Given the description of an element on the screen output the (x, y) to click on. 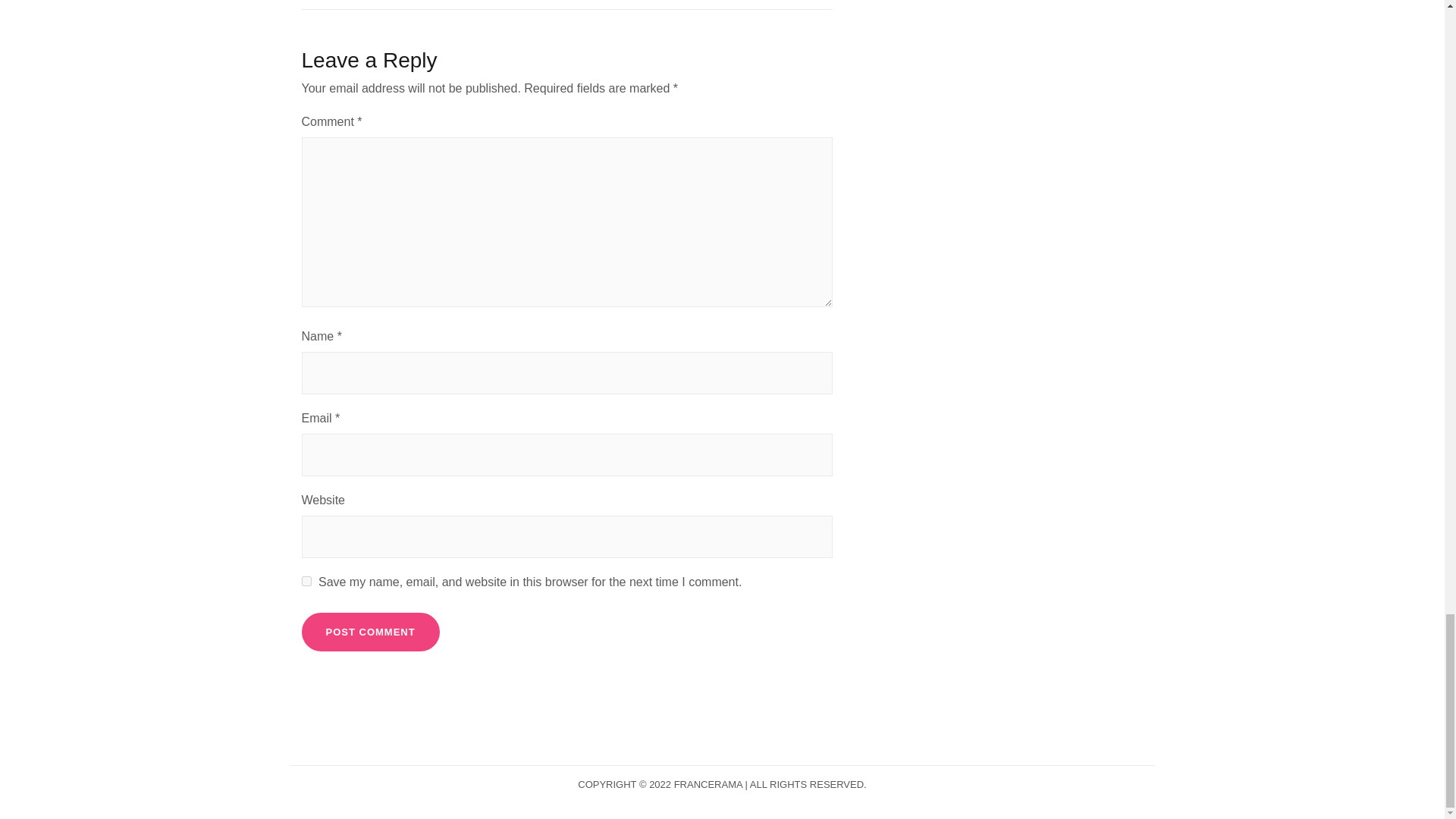
yes (306, 581)
Post Comment (370, 631)
Post Comment (370, 631)
